Given the description of an element on the screen output the (x, y) to click on. 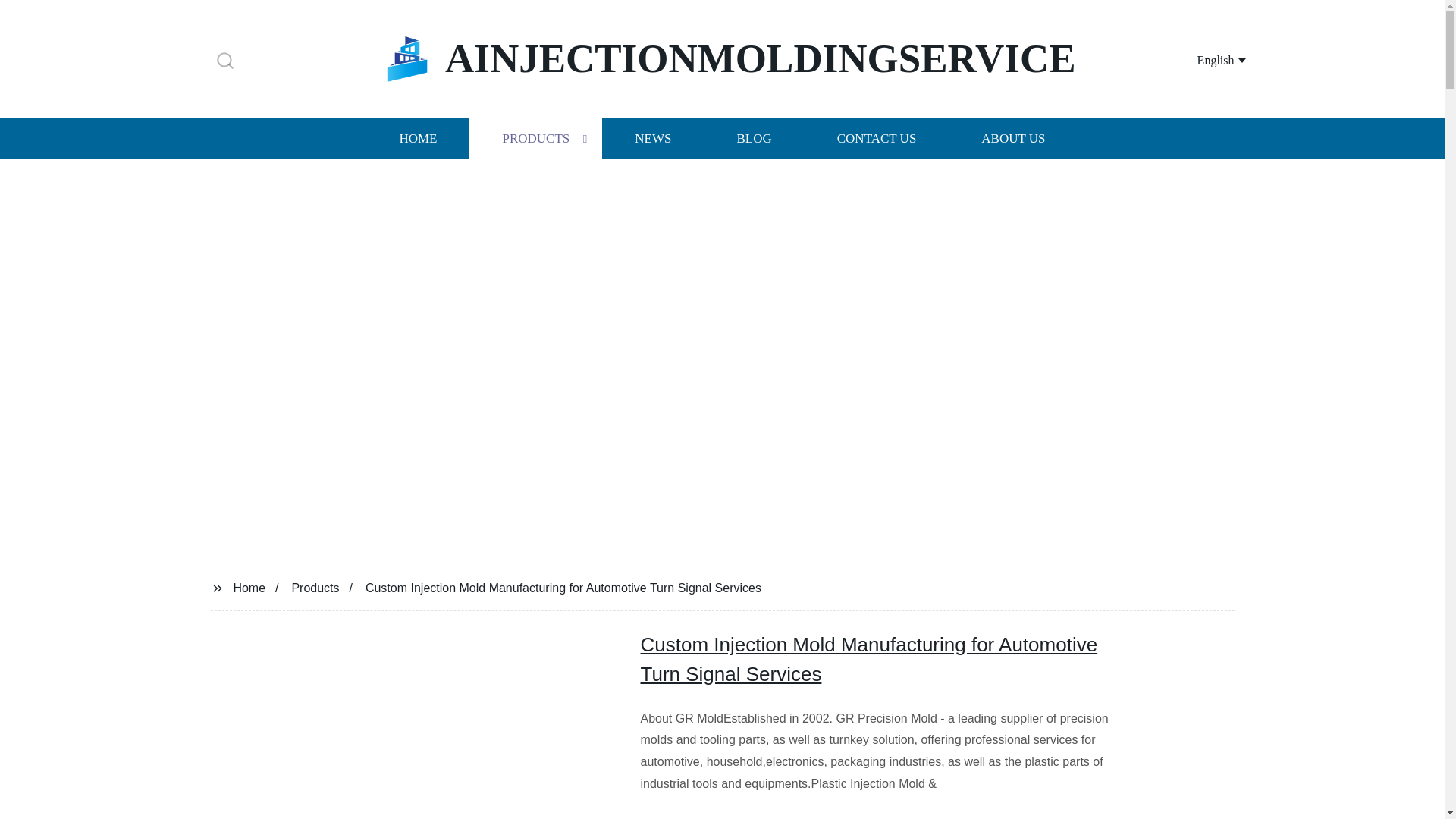
English (1203, 59)
Products (315, 586)
English (1203, 59)
BLOG (753, 137)
CONTACT US (877, 137)
NEWS (652, 137)
PRODUCTS (535, 137)
HOME (417, 137)
ABOUT US (1013, 137)
Home (248, 586)
